Given the description of an element on the screen output the (x, y) to click on. 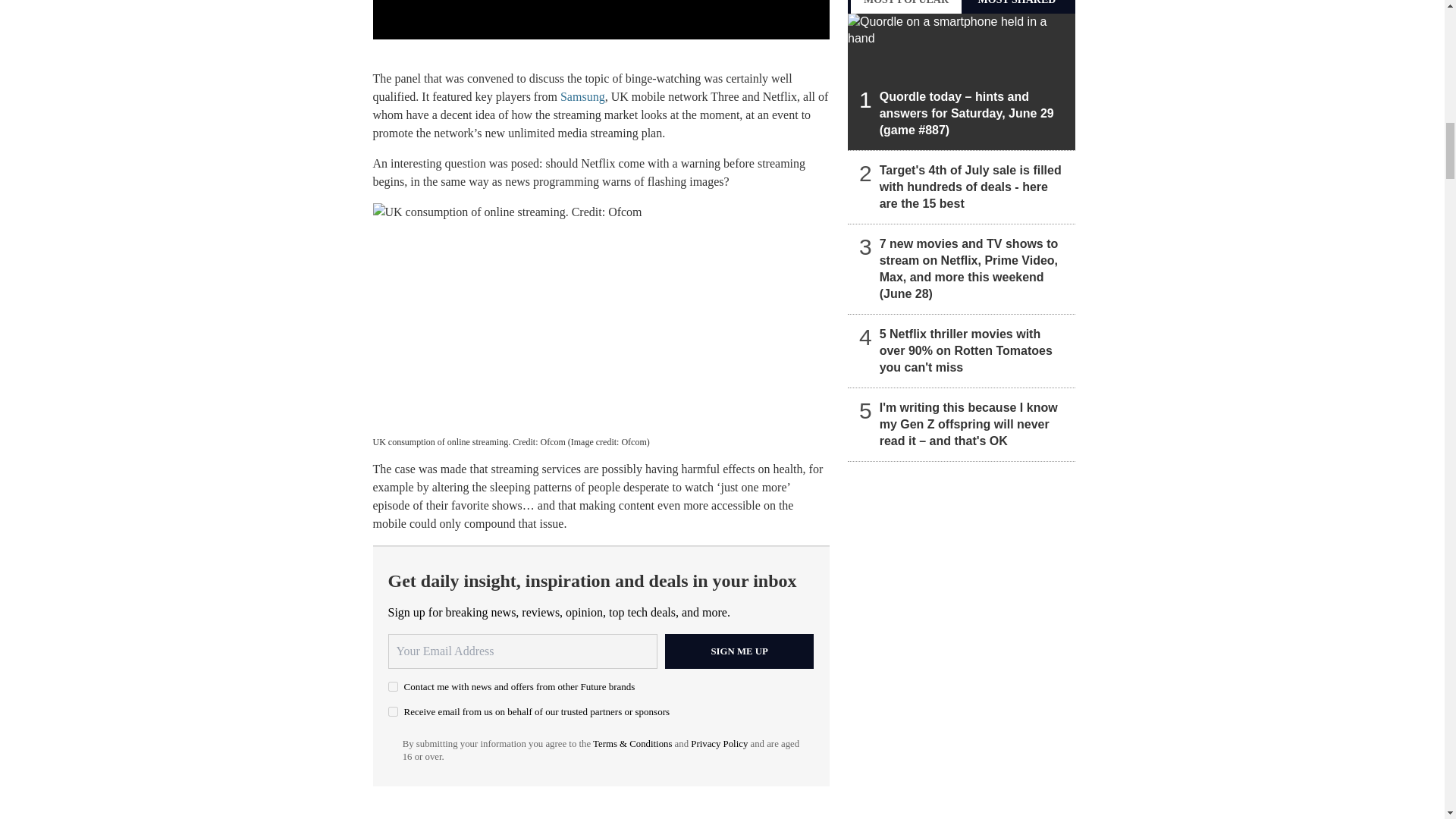
Sign me up (739, 651)
on (392, 686)
on (392, 711)
